Given the description of an element on the screen output the (x, y) to click on. 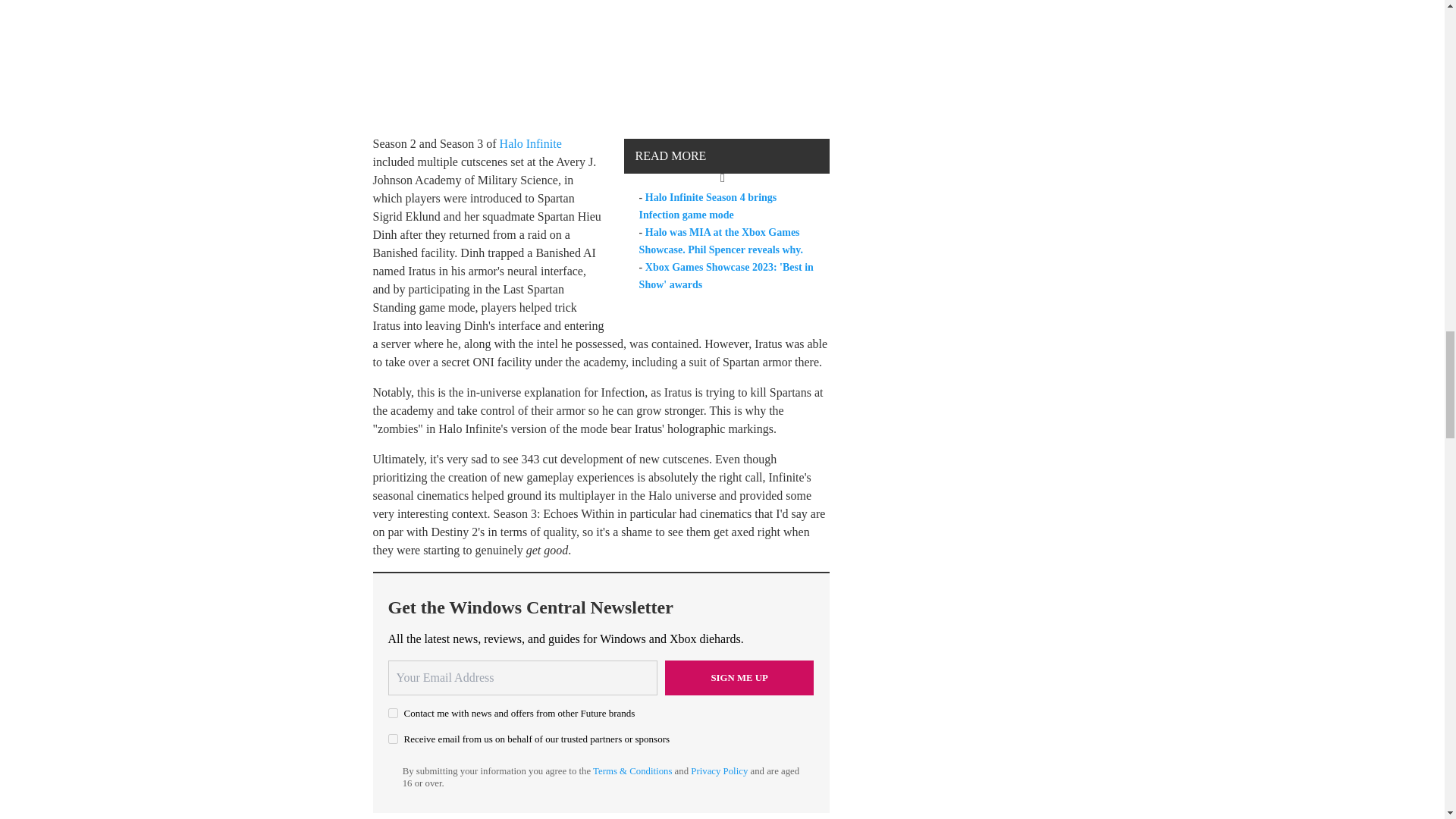
on (392, 713)
Sign me up (739, 677)
on (392, 738)
